Given the description of an element on the screen output the (x, y) to click on. 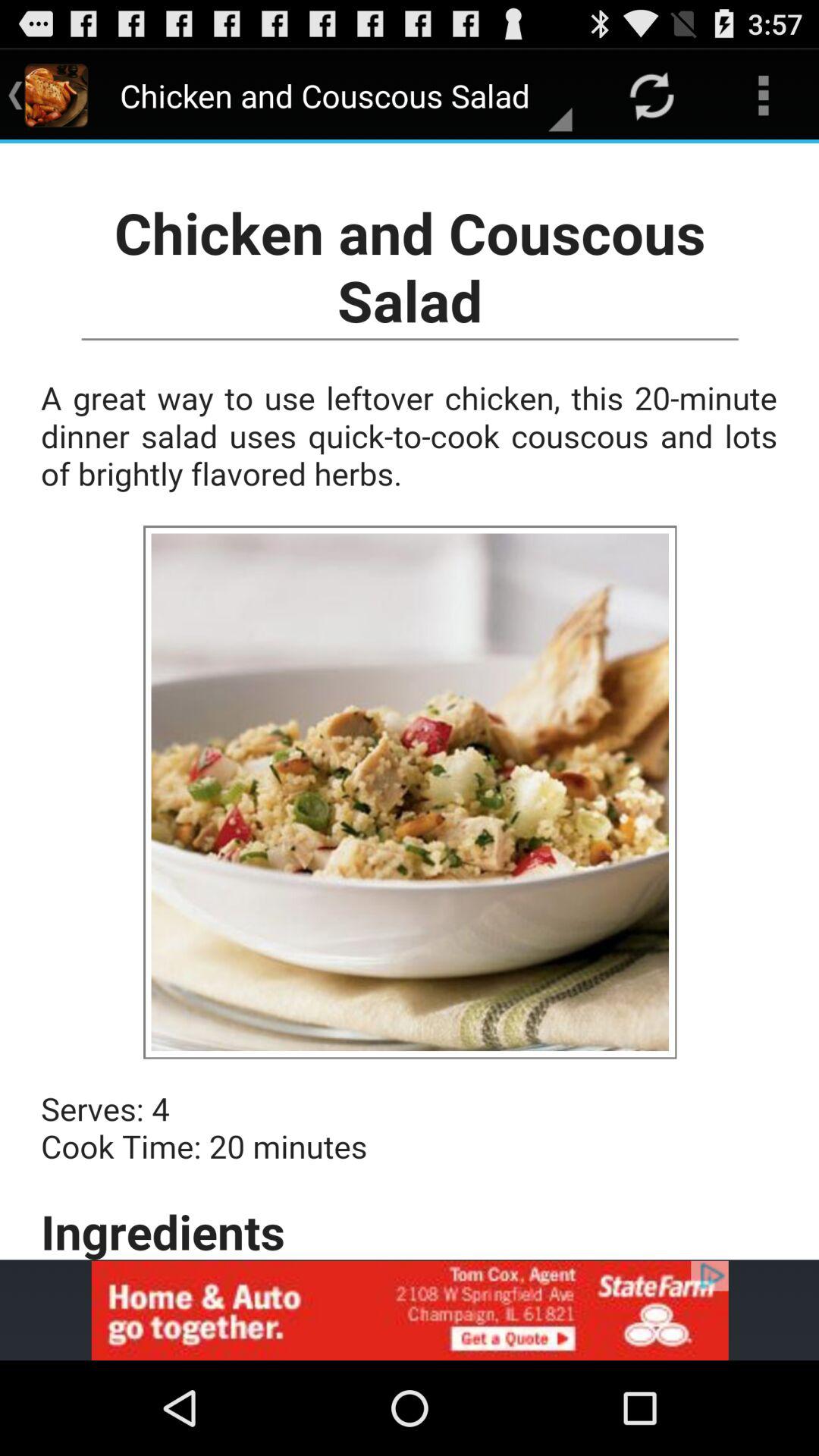
select article body (409, 701)
